Given the description of an element on the screen output the (x, y) to click on. 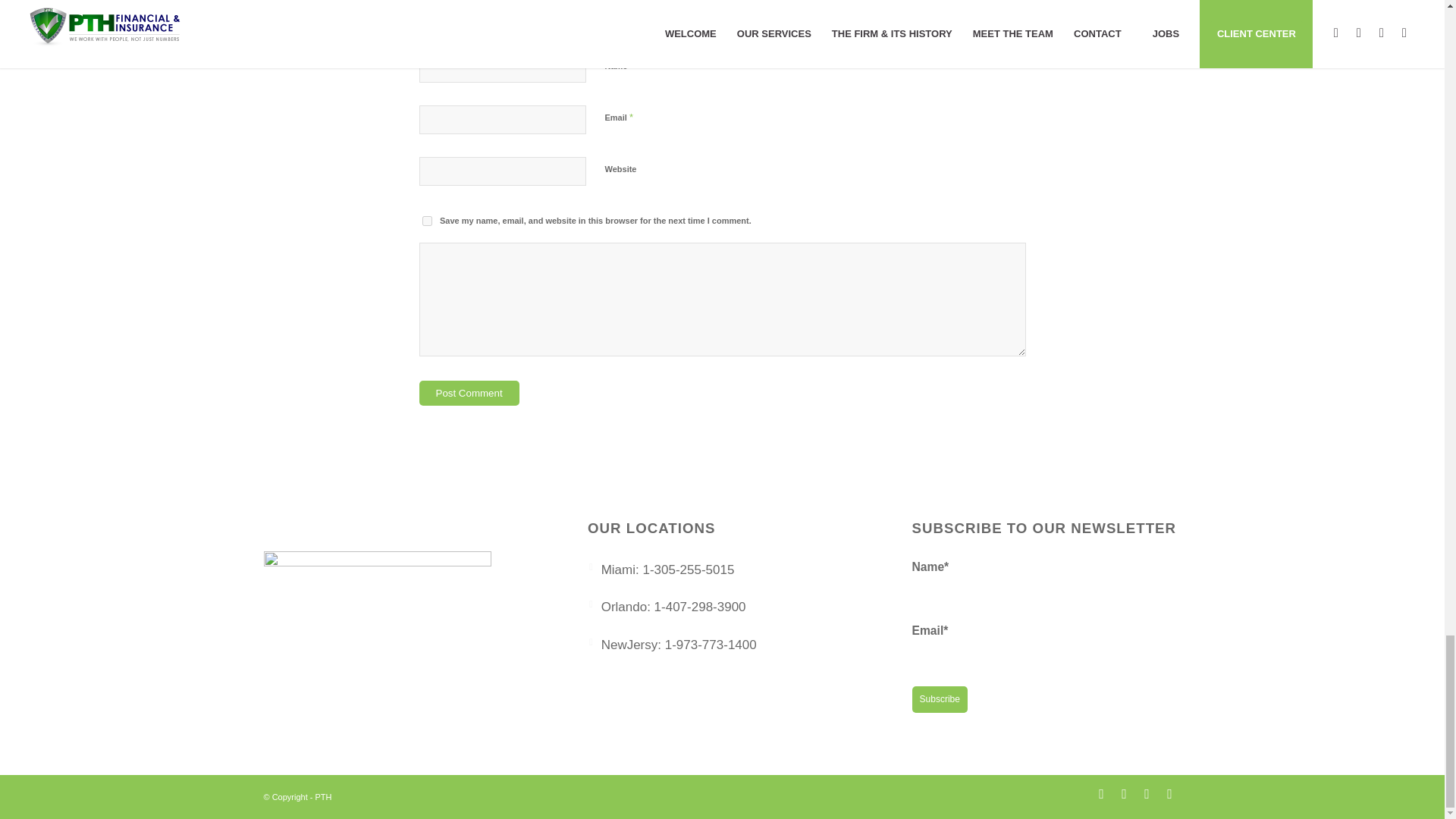
Post Comment (468, 392)
Subscribe (940, 699)
yes (426, 221)
